Given the description of an element on the screen output the (x, y) to click on. 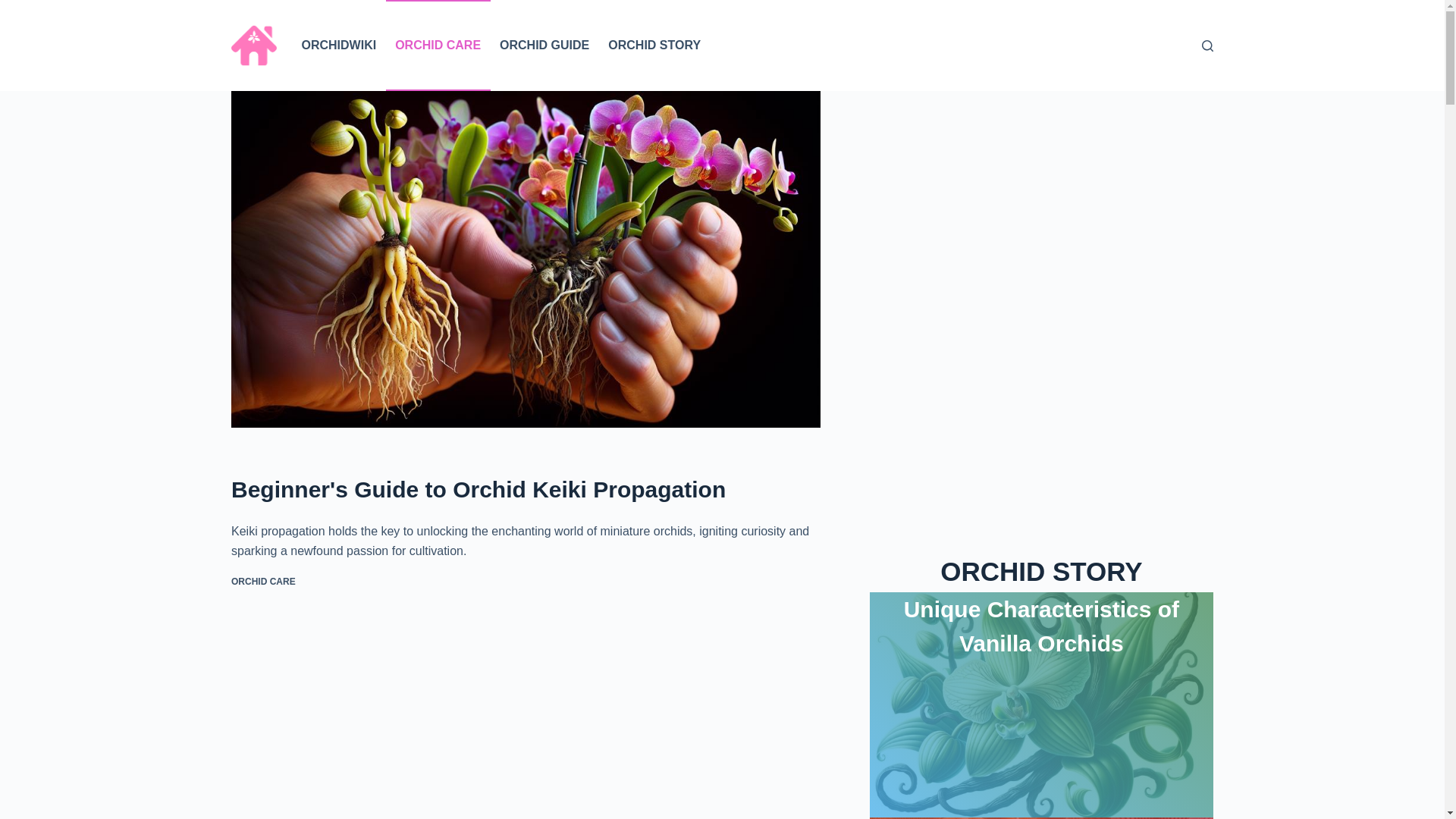
ORCHID CARE (263, 581)
Unique Characteristics of Vanilla Orchids (1041, 626)
Beginner's Guide to Orchid Keiki Propagation (526, 488)
ORCHIDWIKI (338, 45)
Skip to content (15, 7)
ORCHID STORY (654, 45)
ORCHID GUIDE (544, 45)
ORCHID CARE (437, 45)
Advertisement (526, 719)
